Given the description of an element on the screen output the (x, y) to click on. 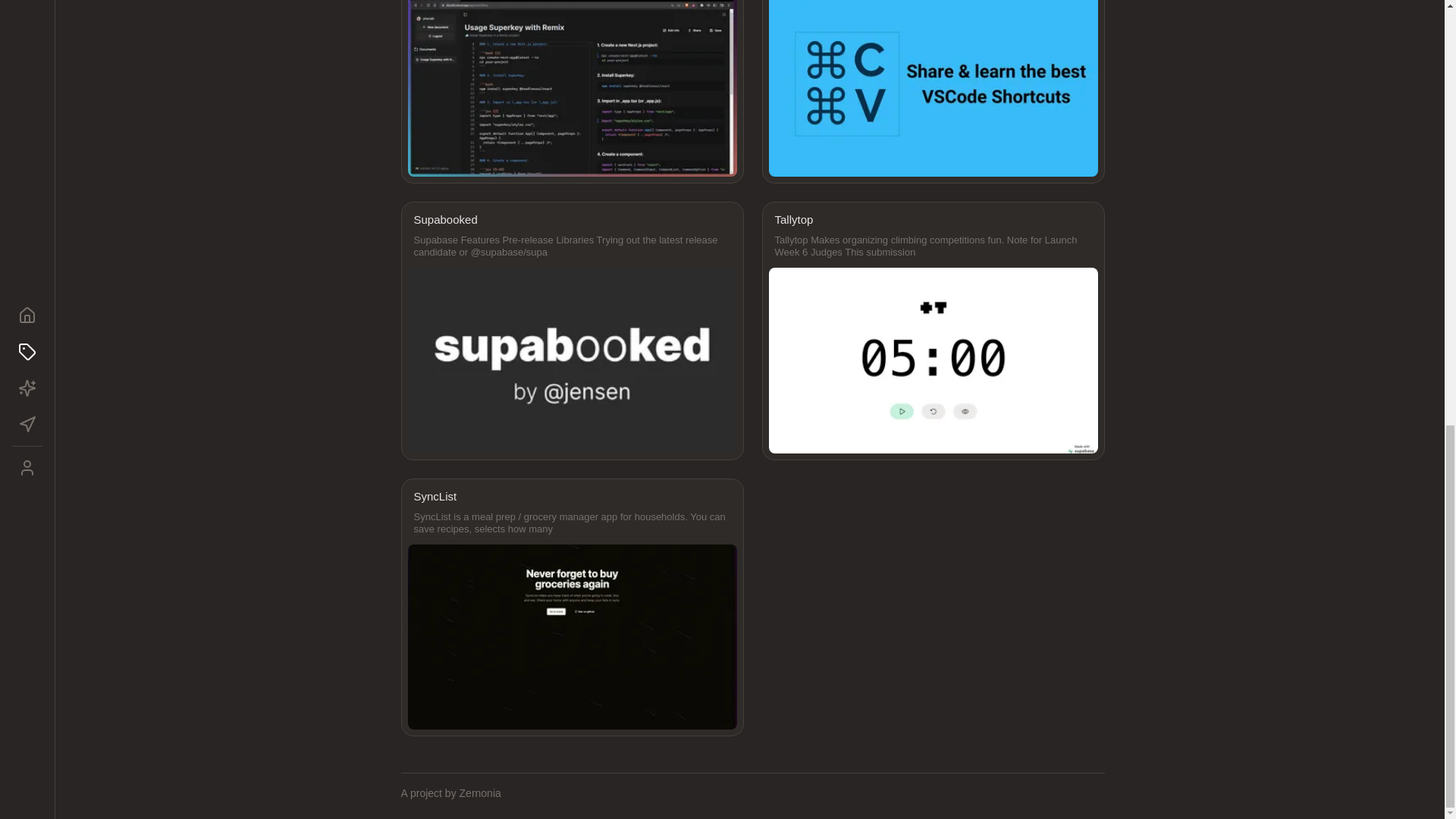
Zernonia (480, 793)
